Given the description of an element on the screen output the (x, y) to click on. 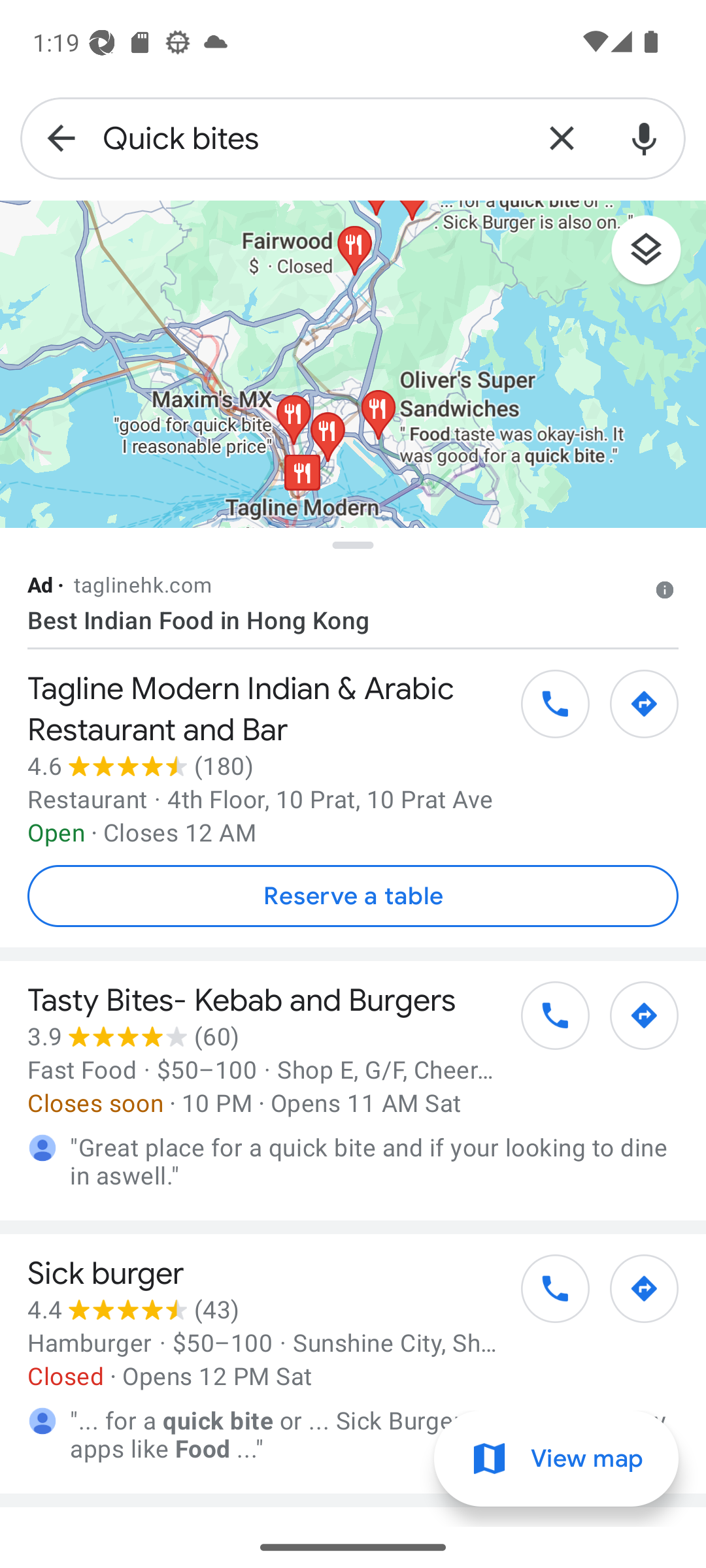
Back (61, 138)
Quick bites (311, 138)
Clear (562, 138)
Voice search (644, 138)
Layers (656, 256)
Reserve a table (352, 895)
View map Map view (556, 1458)
